Given the description of an element on the screen output the (x, y) to click on. 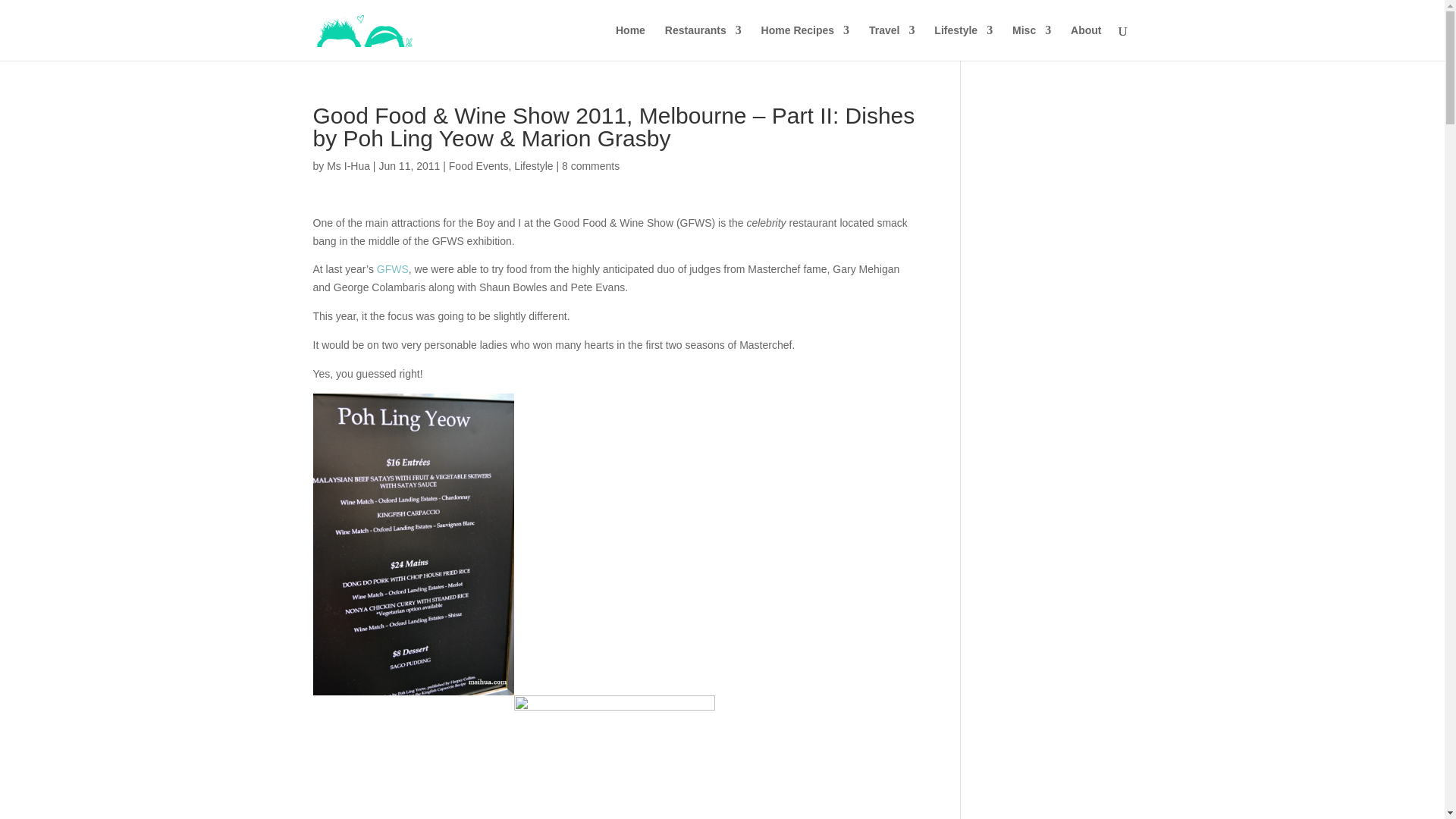
Posts by Ms I-Hua (347, 165)
Restaurants (703, 42)
